Given the description of an element on the screen output the (x, y) to click on. 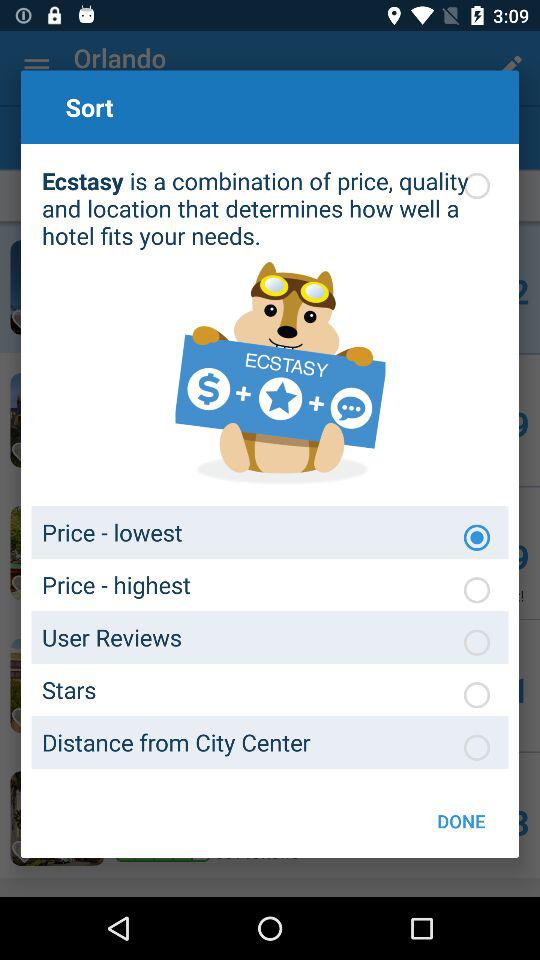
sort by stars (477, 695)
